Given the description of an element on the screen output the (x, y) to click on. 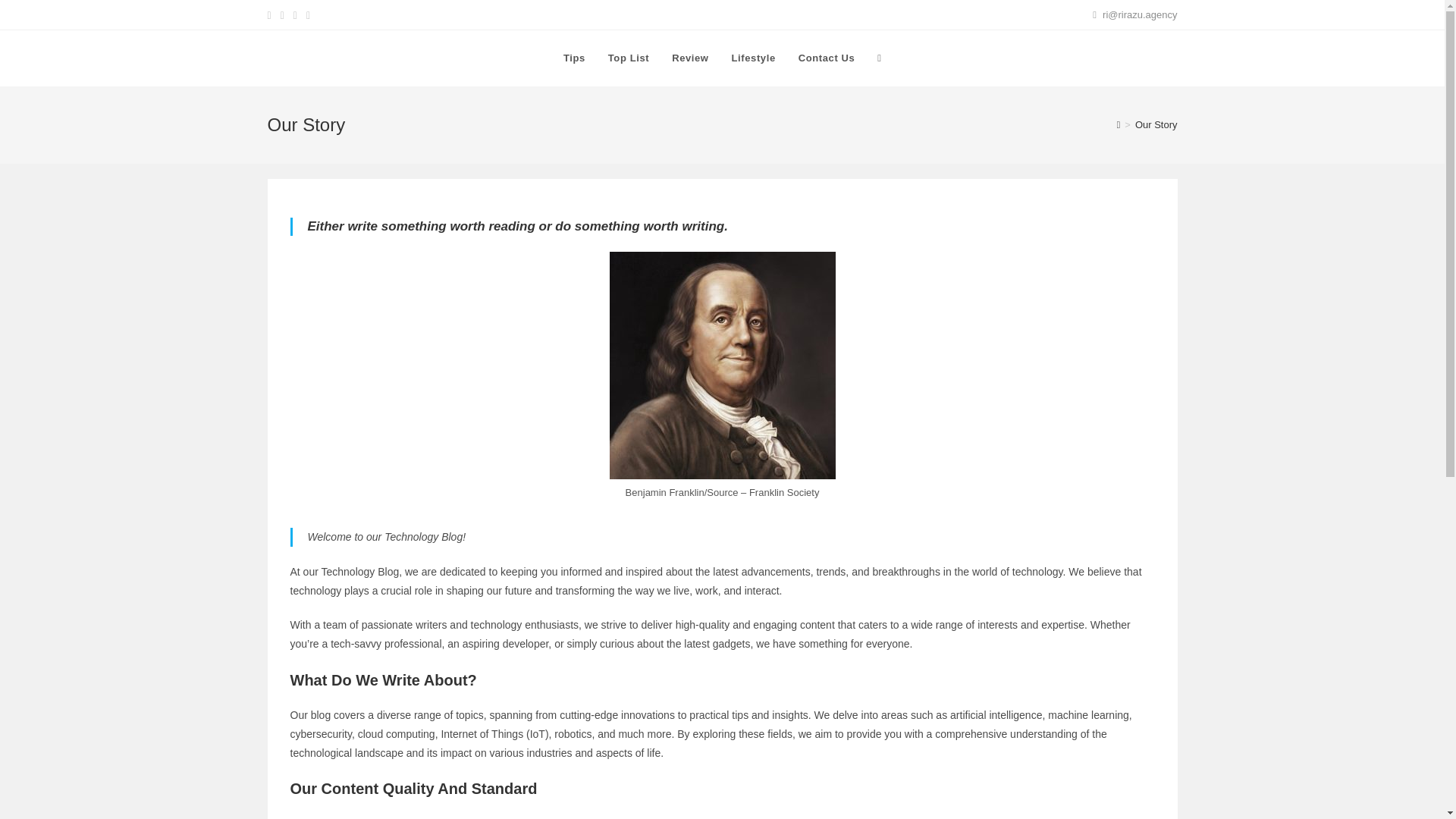
Review (690, 58)
Contact Us (826, 58)
Lifestyle (753, 58)
Top List (628, 58)
ridigital Blog (316, 58)
Our Story (1156, 124)
